Given the description of an element on the screen output the (x, y) to click on. 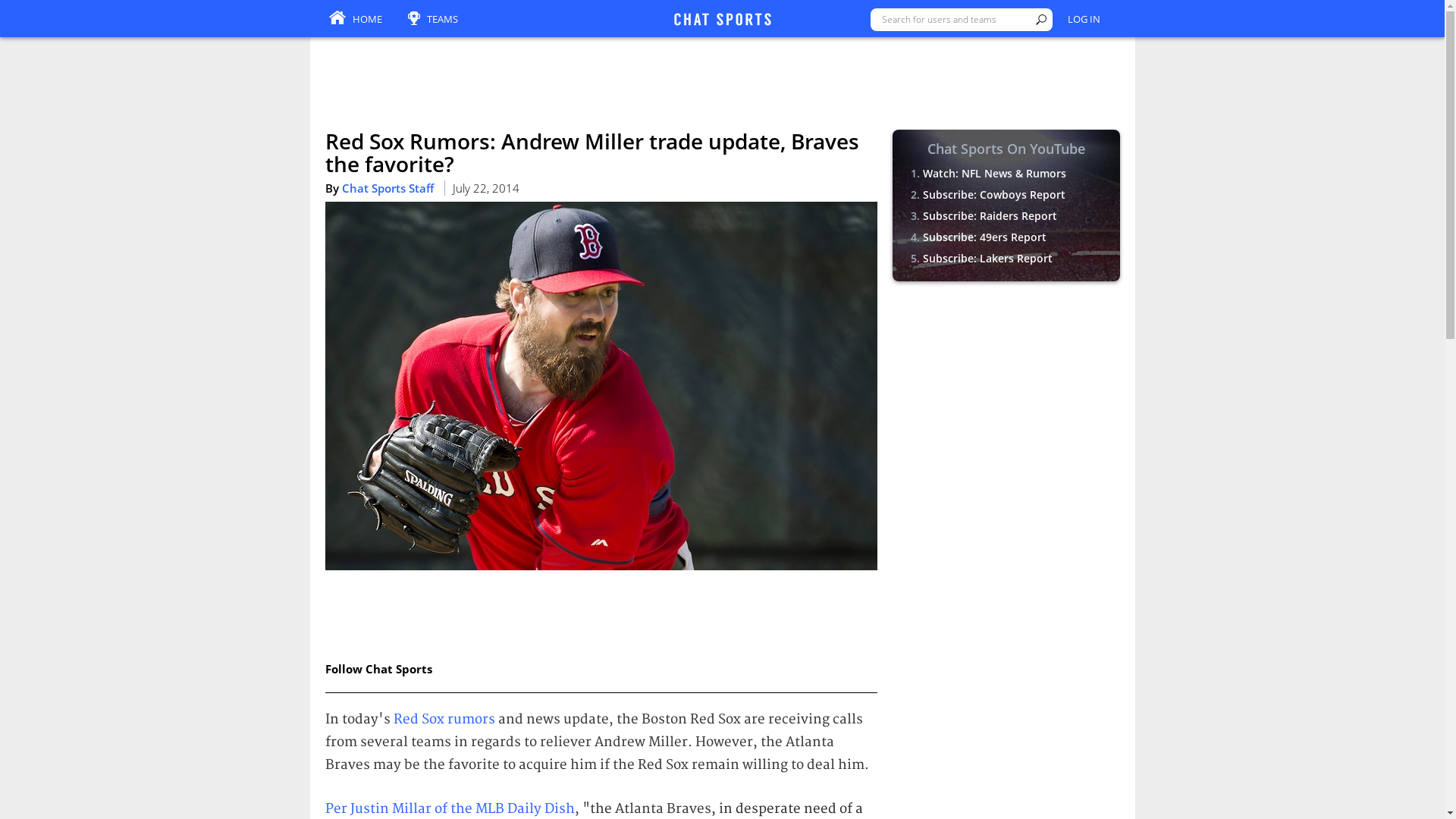
Subscribe: Raiders Report (989, 215)
3rd party ad content (721, 72)
Subscribe: 49ers Report (983, 237)
Chat Sports Staff (386, 187)
HOME (355, 19)
Subscribe: Cowboys Report (992, 194)
3rd party ad content (1005, 596)
submit (1040, 19)
3rd party ad content (1005, 391)
Per Justin Millar of the MLB Daily Dish (448, 808)
